Given the description of an element on the screen output the (x, y) to click on. 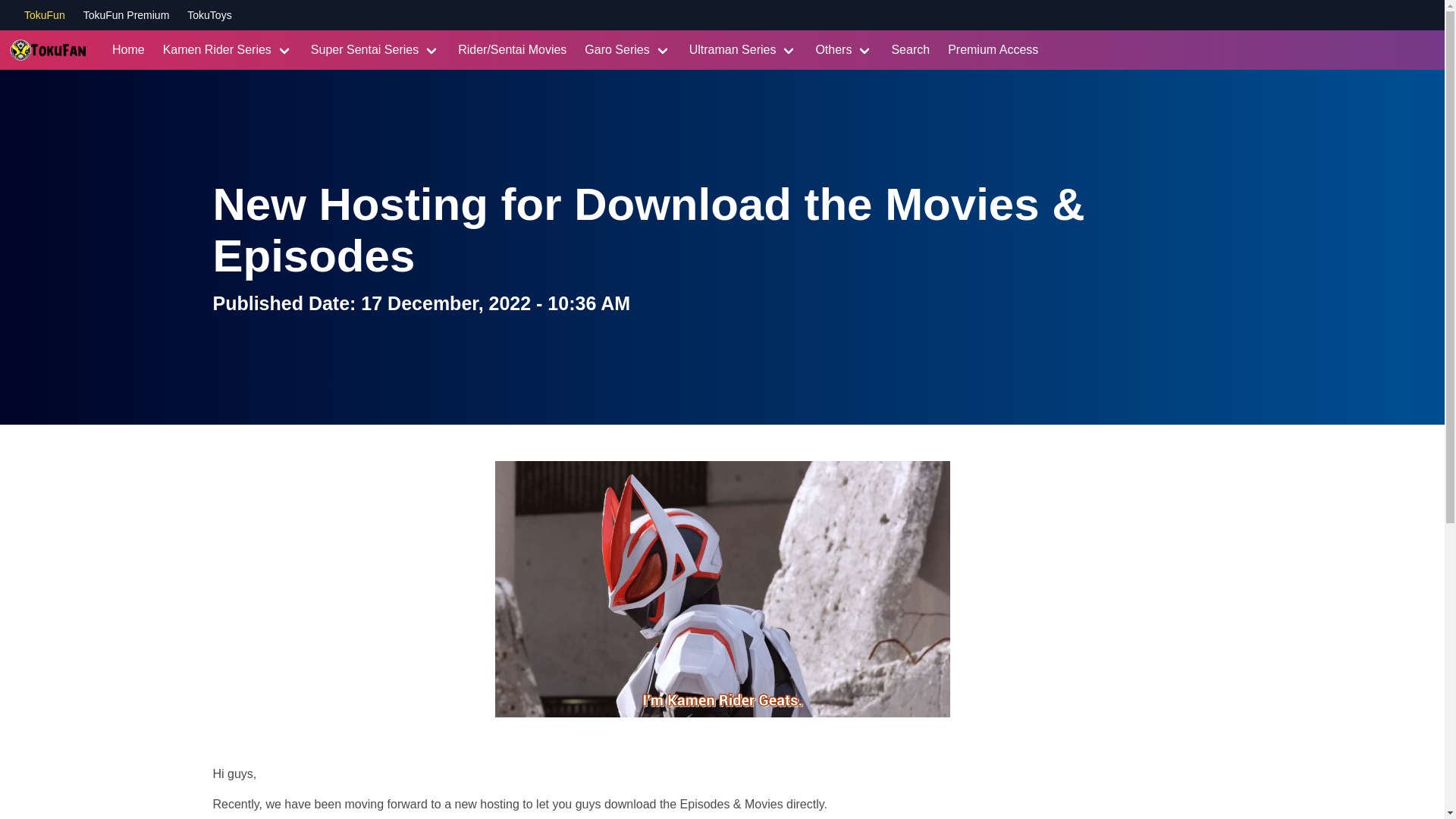
Kamen Rider Series (227, 49)
Home (128, 49)
TokuFun (44, 14)
TokuToys (209, 14)
TokuFun Premium (126, 14)
Super Sentai Series (374, 49)
